Given the description of an element on the screen output the (x, y) to click on. 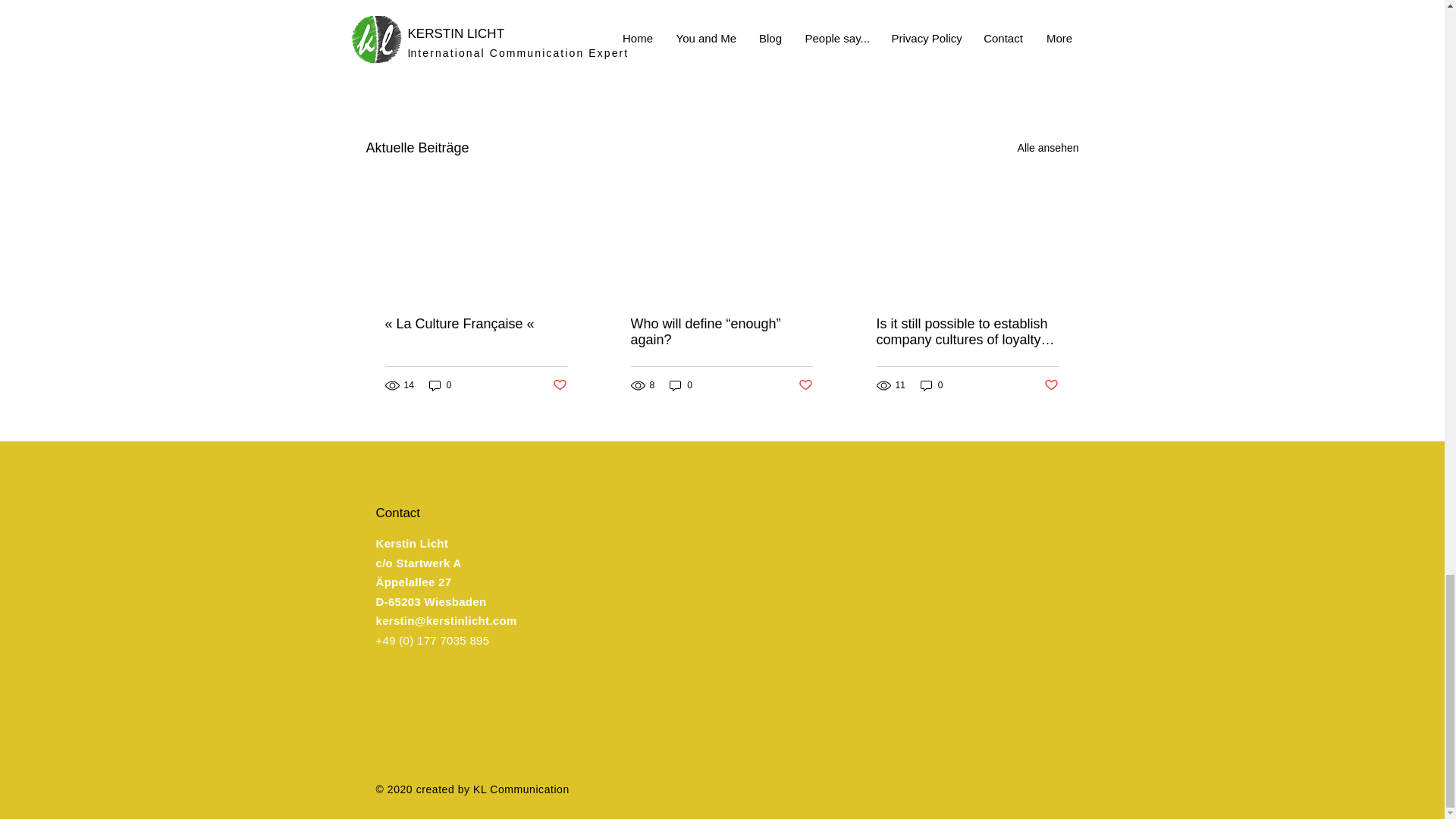
0 (931, 385)
0 (681, 385)
Alle ansehen (1047, 147)
0 (440, 385)
